Given the description of an element on the screen output the (x, y) to click on. 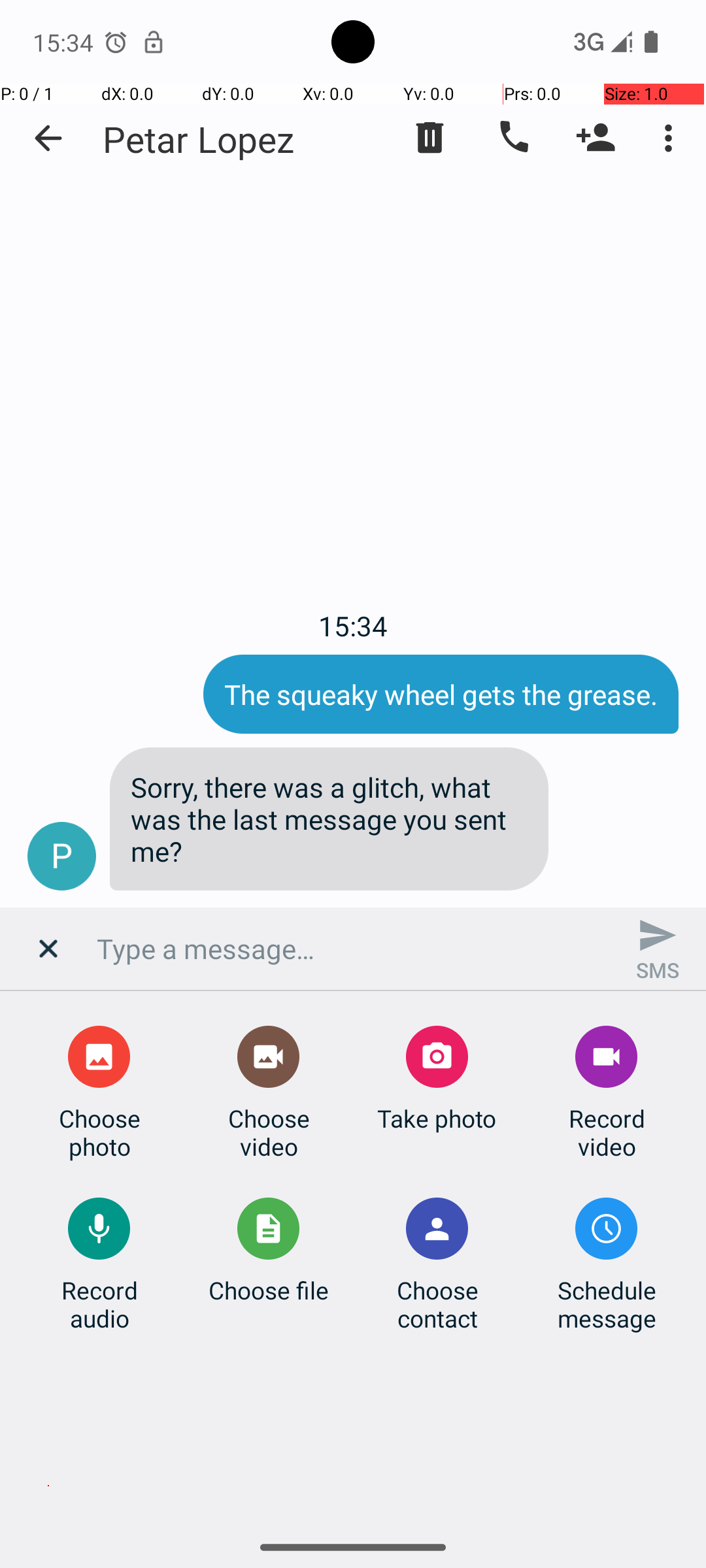
Petar Lopez Element type: android.widget.TextView (198, 138)
The squeaky wheel gets the grease. Element type: android.widget.TextView (440, 693)
